Given the description of an element on the screen output the (x, y) to click on. 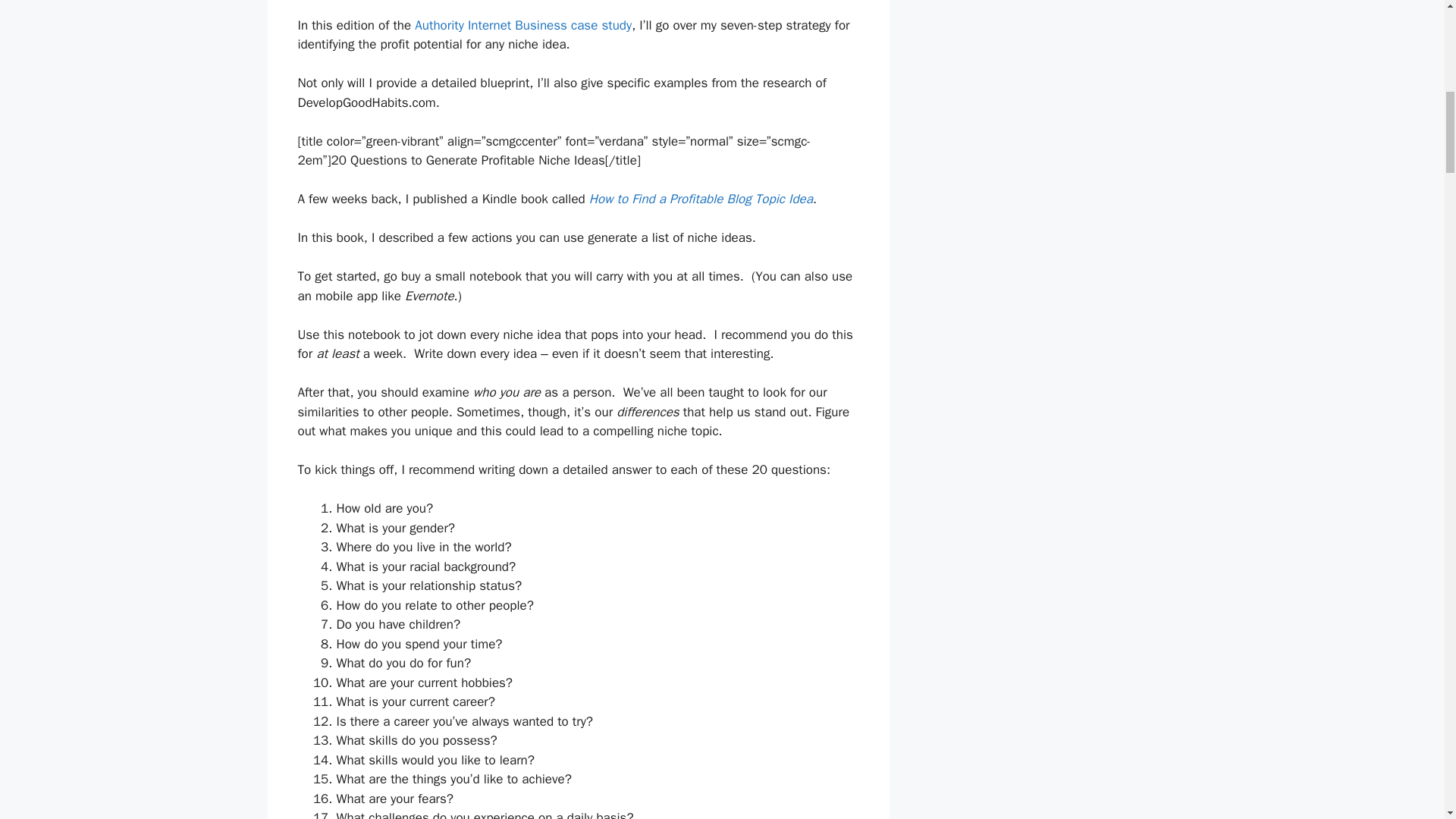
How to Find a Profitable Blog Topic Idea (700, 198)
Authority Internet Business case study (522, 25)
